Given the description of an element on the screen output the (x, y) to click on. 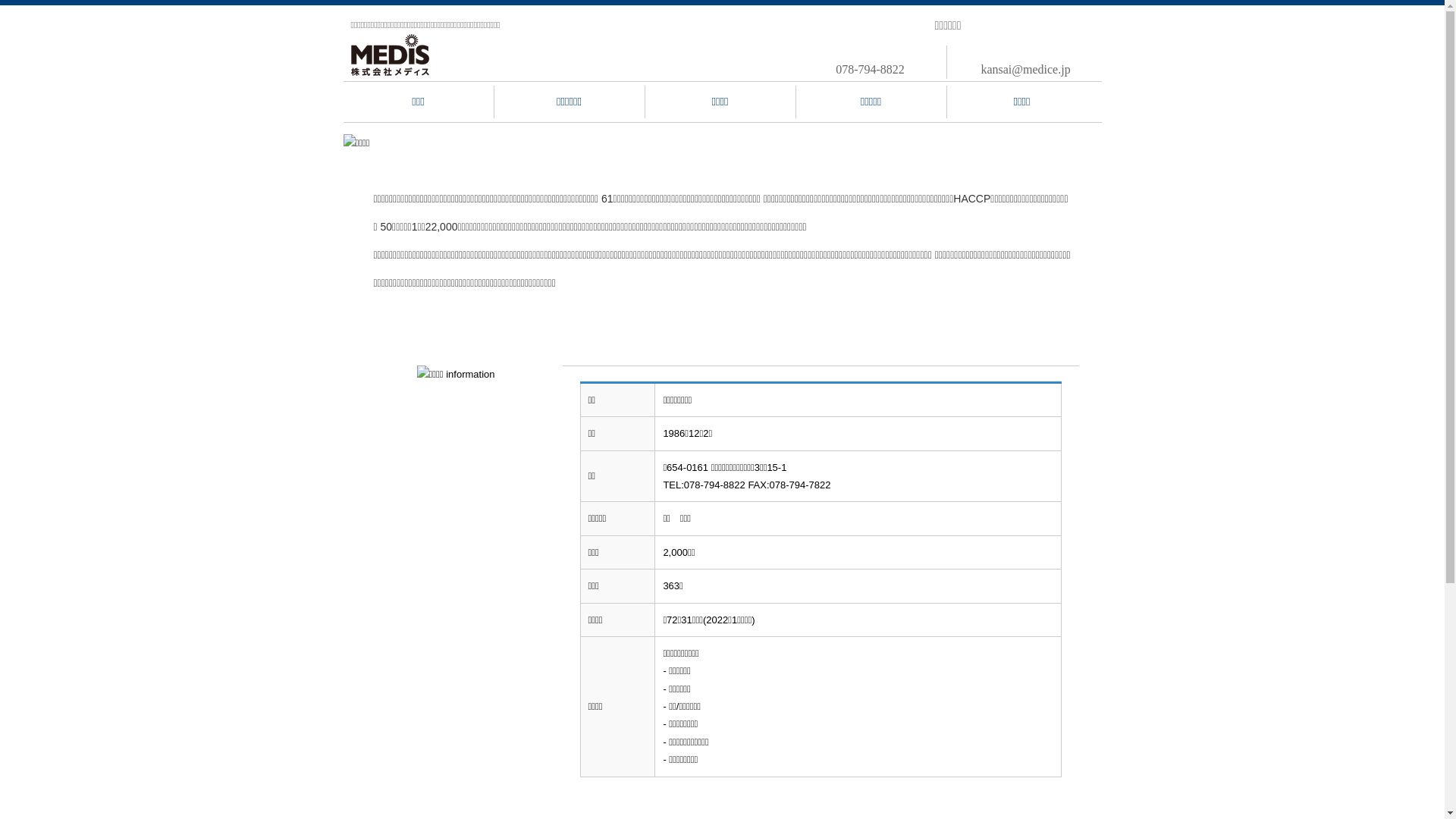
kansai@medice.jp Element type: text (1025, 68)
